Given the description of an element on the screen output the (x, y) to click on. 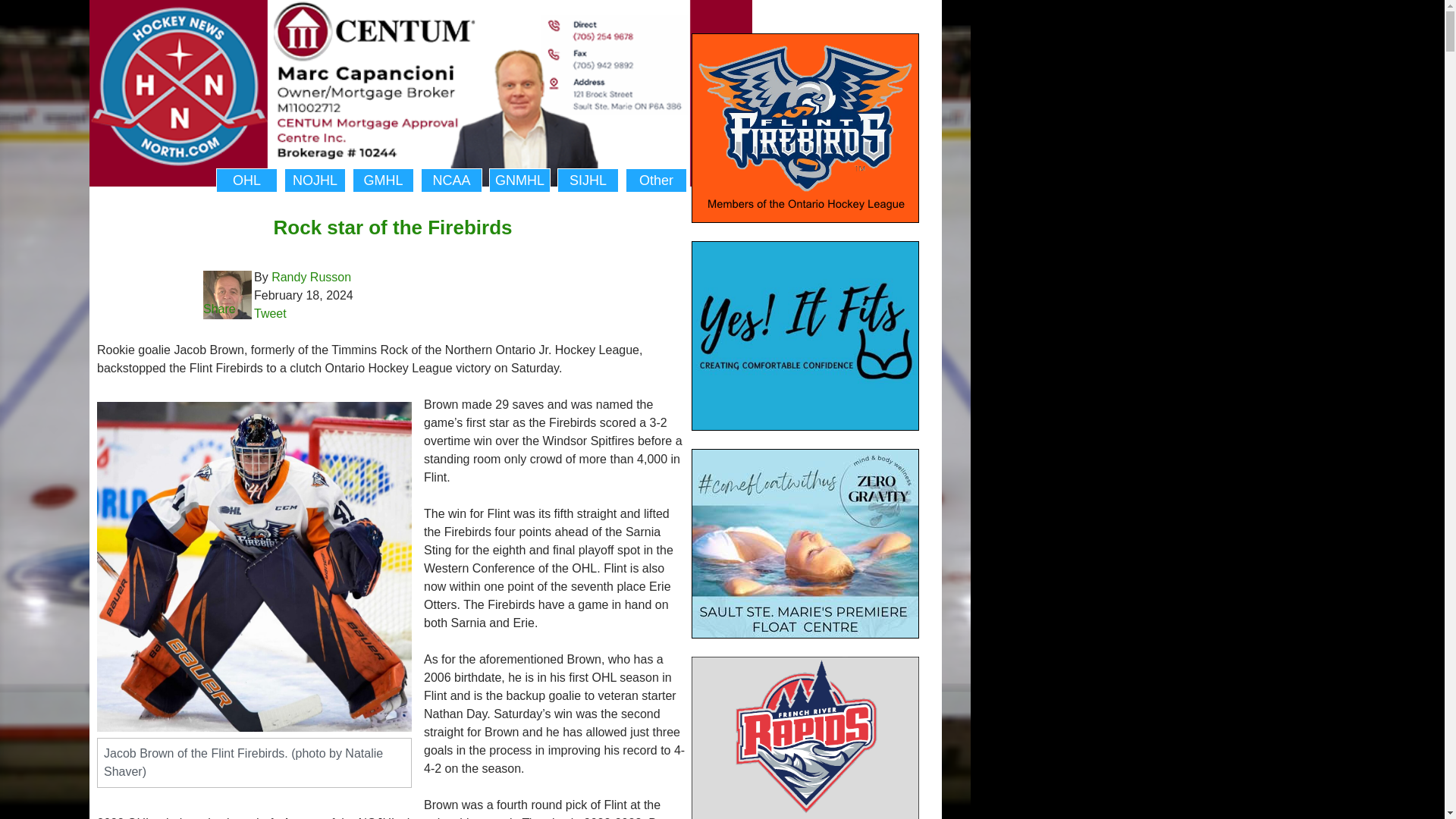
GMHL (382, 180)
NCAA (450, 180)
Other (656, 180)
GNMHL (519, 180)
Posts by Randy Russon (310, 277)
OHL (246, 180)
SIJHL (587, 180)
NOJHL (314, 180)
